Given the description of an element on the screen output the (x, y) to click on. 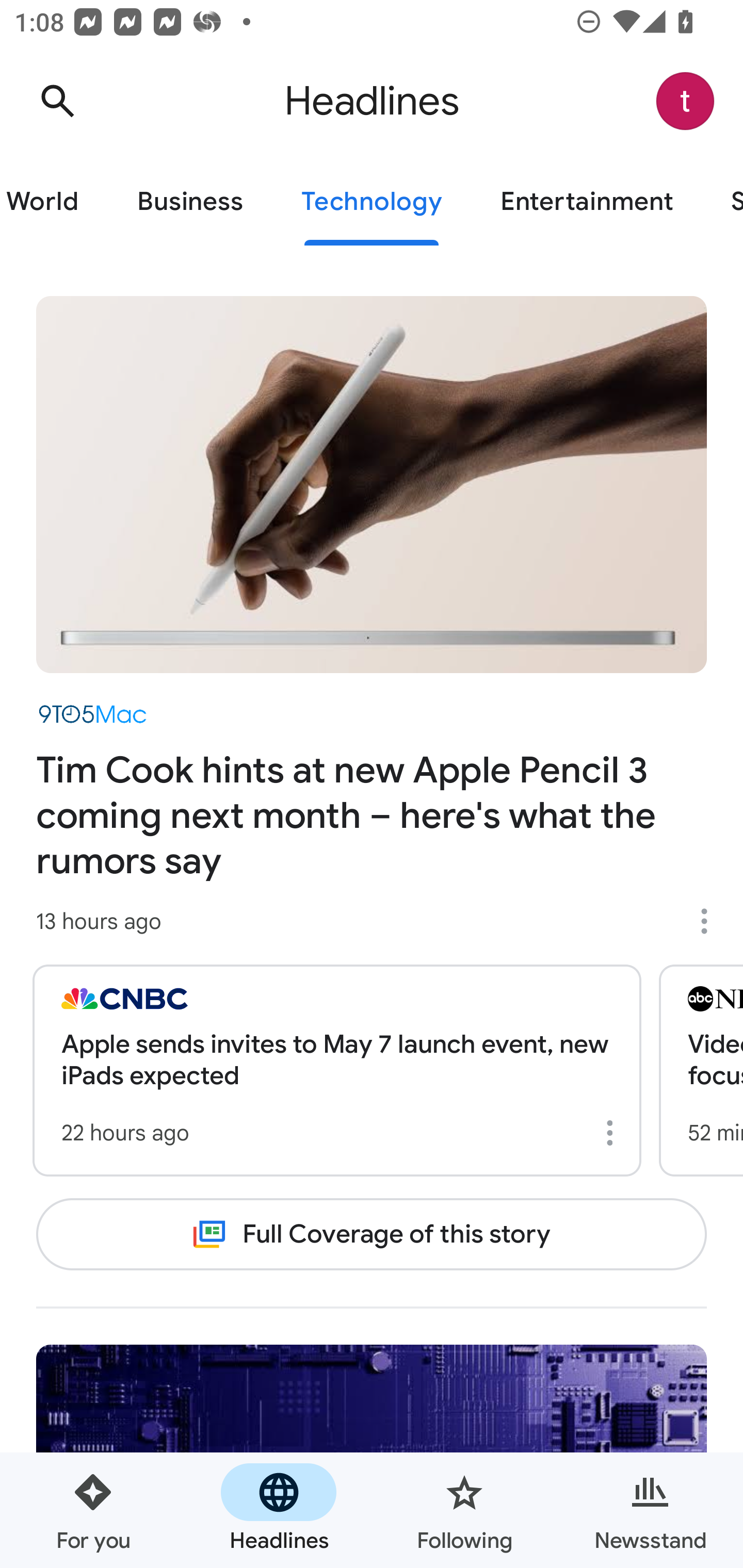
Search (57, 100)
World (53, 202)
Business (189, 202)
Entertainment (586, 202)
More options (711, 921)
More options (613, 1132)
Full Coverage of this story (371, 1233)
For you (92, 1509)
Headlines (278, 1509)
Following (464, 1509)
Newsstand (650, 1509)
